Given the description of an element on the screen output the (x, y) to click on. 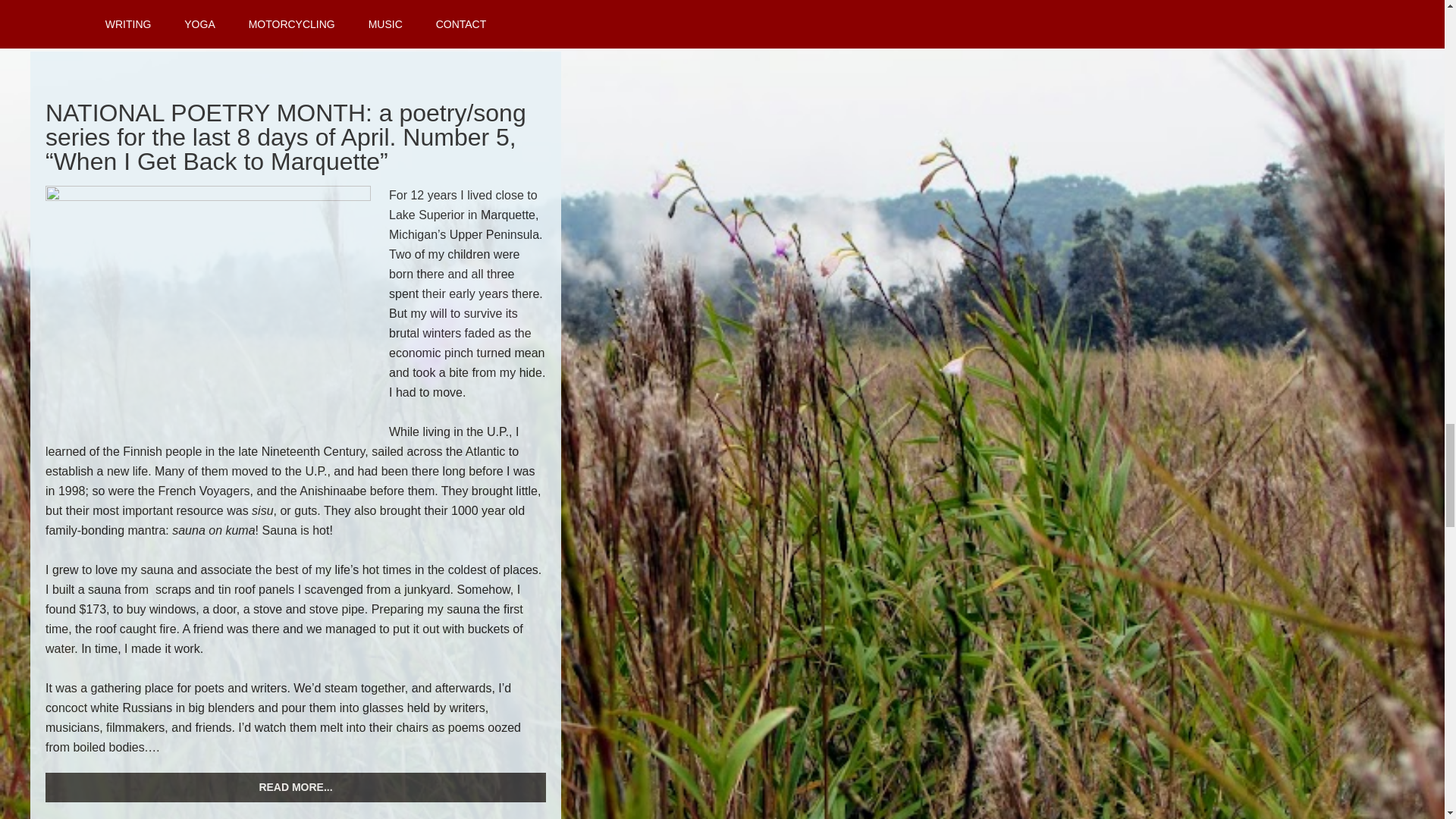
READ MORE... (295, 787)
